Given the description of an element on the screen output the (x, y) to click on. 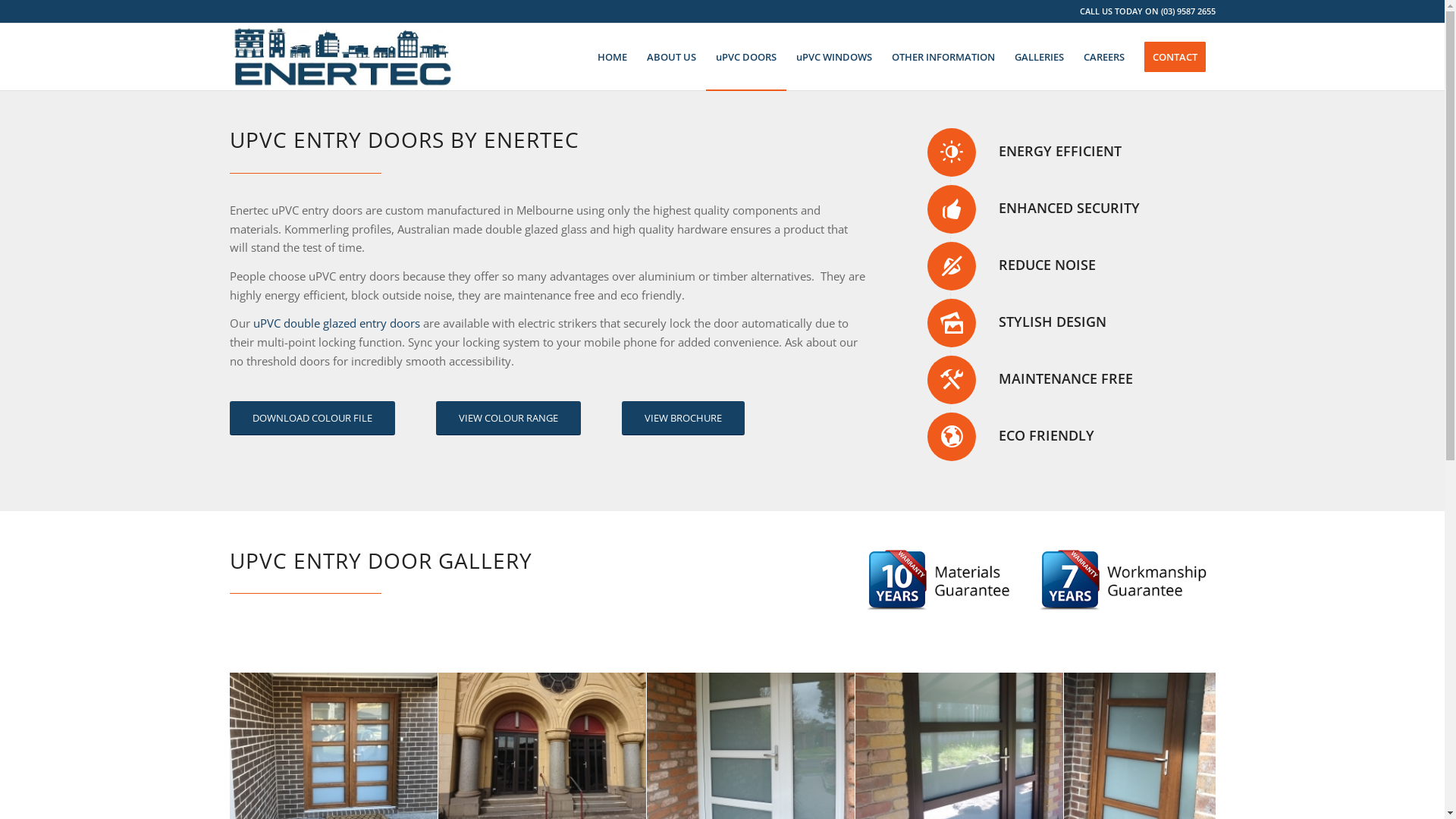
HOME Element type: text (611, 56)
OTHER INFORMATION Element type: text (942, 56)
VIEW BROCHURE Element type: text (682, 418)
Enertec Logo Name and Buildings Element type: hover (342, 56)
CONTACT Element type: text (1174, 56)
uPVC DOORS Element type: text (745, 56)
DOWNLOAD COLOUR FILE Element type: text (311, 418)
uPVC WINDOWS Element type: text (833, 56)
VIEW COLOUR RANGE Element type: text (507, 418)
uPVC double glazed entry doors Element type: text (336, 322)
CAREERS Element type: text (1103, 56)
GALLERIES Element type: text (1038, 56)
ABOUT US Element type: text (671, 56)
